Given the description of an element on the screen output the (x, y) to click on. 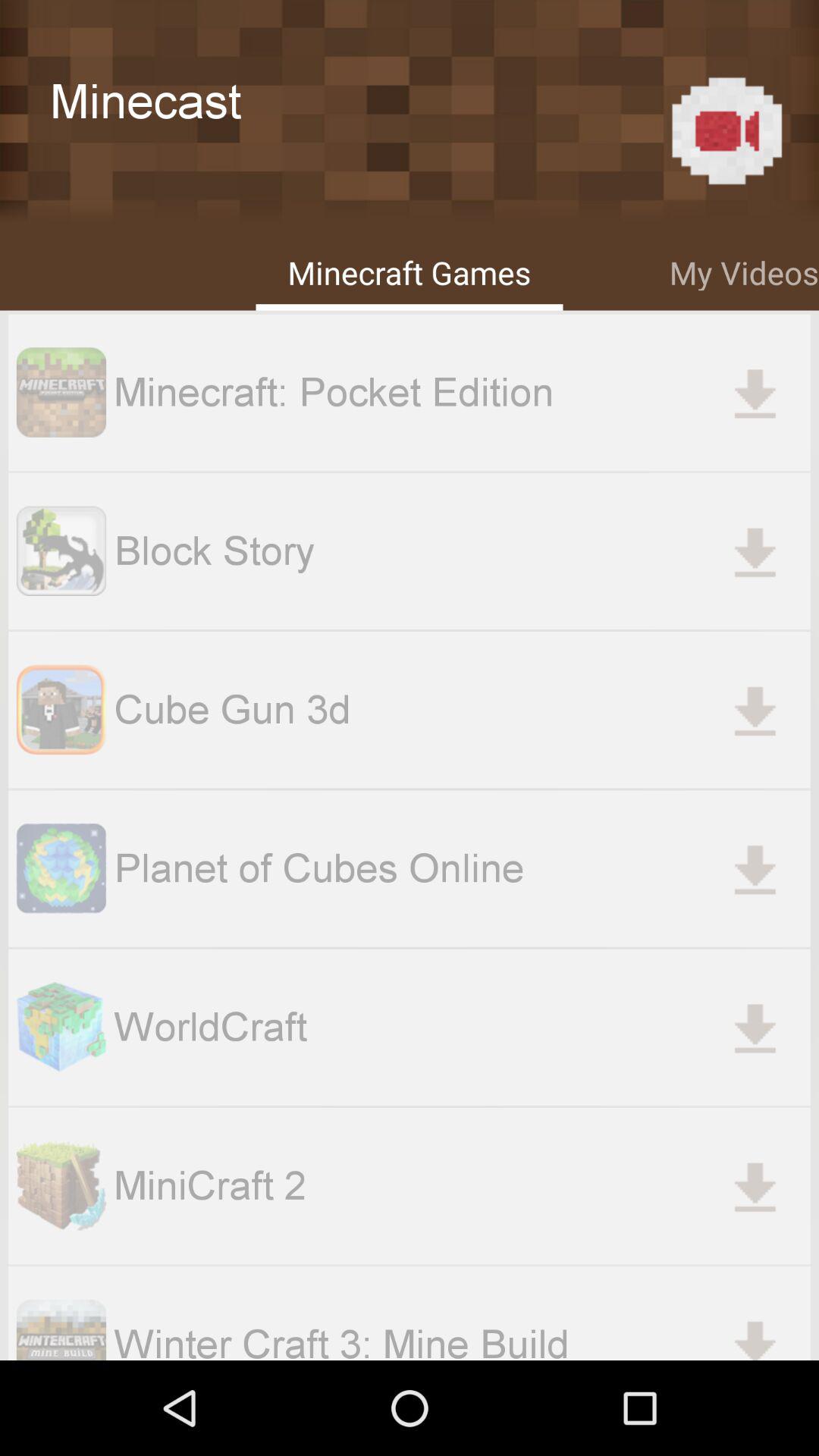
select the item to the right of minecast (726, 130)
